Given the description of an element on the screen output the (x, y) to click on. 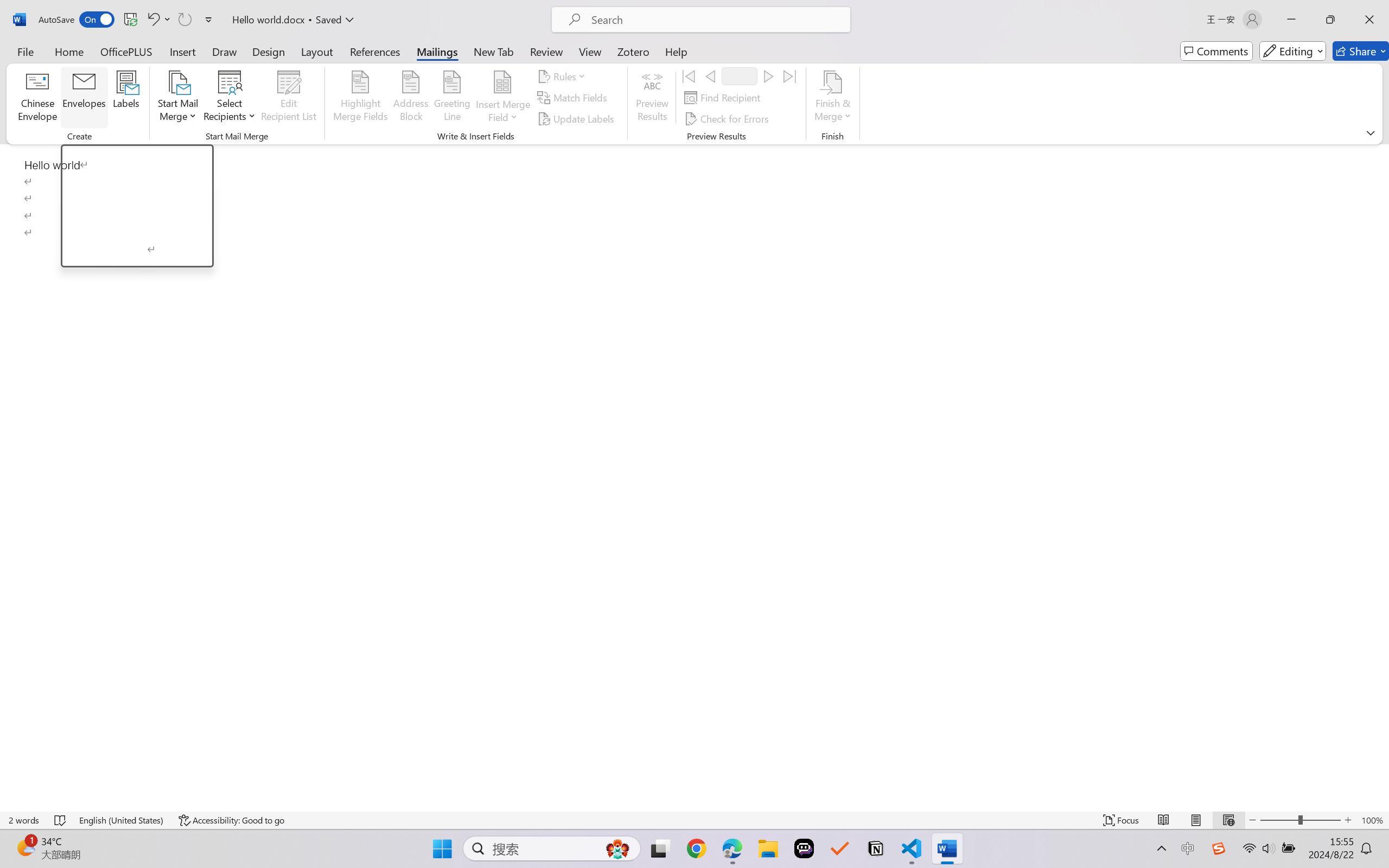
Select Recipients (229, 97)
Print Layout (1196, 819)
Class: NetUIScrollBar (1382, 477)
Accessibility Checker Accessibility: Good to go (231, 819)
